Given the description of an element on the screen output the (x, y) to click on. 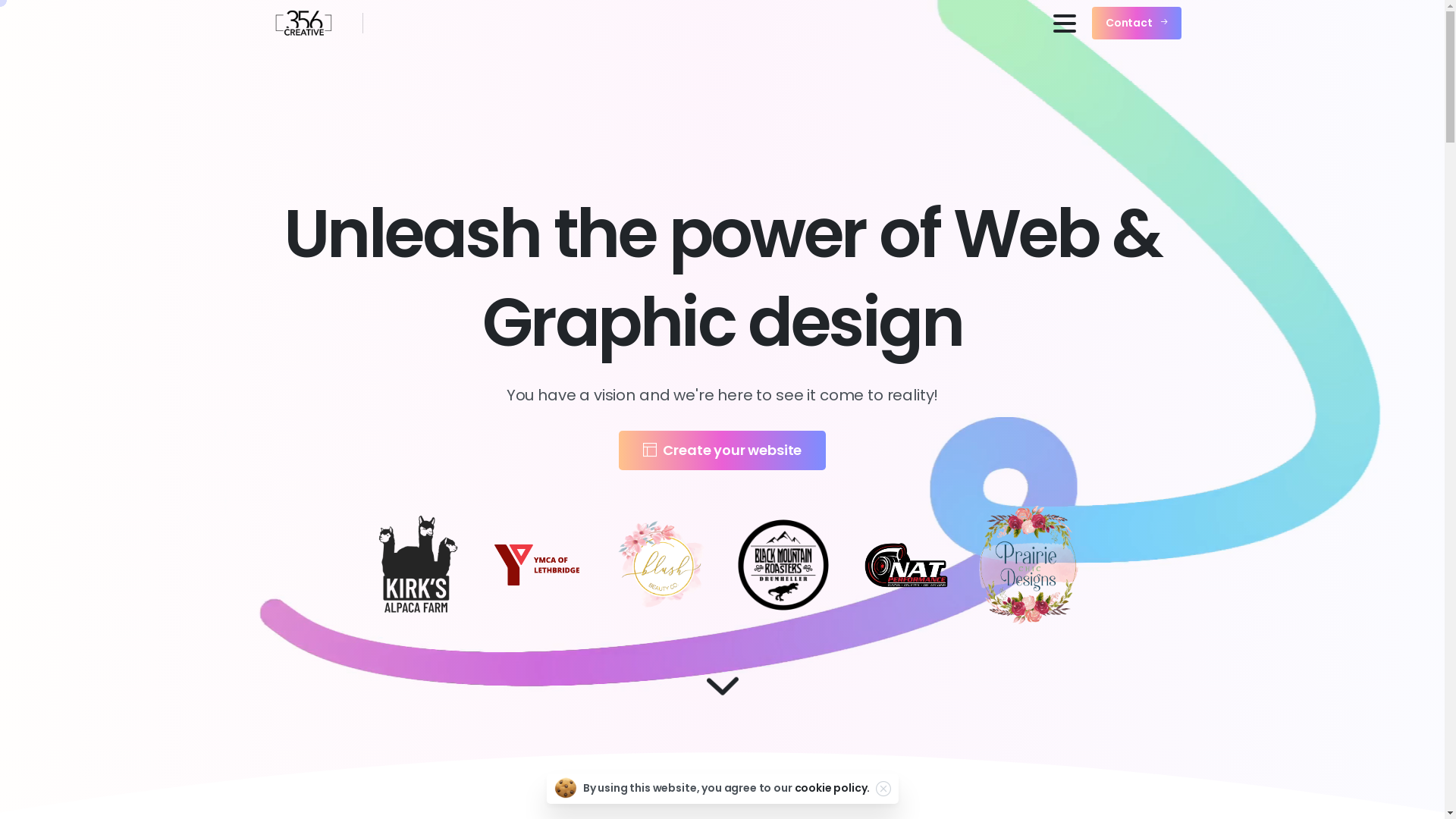
nat Element type: hover (906, 564)
Web Element type: text (604, 781)
Create your website Element type: text (722, 450)
ymca Element type: hover (538, 564)
cookie policy. Element type: text (831, 787)
bmr Element type: hover (783, 564)
Social Media Element type: text (806, 781)
About Element type: text (519, 781)
Contact Element type: text (1136, 23)
blush Element type: hover (661, 565)
Graphic Element type: text (694, 781)
Mockup Element type: text (919, 781)
